Given the description of an element on the screen output the (x, y) to click on. 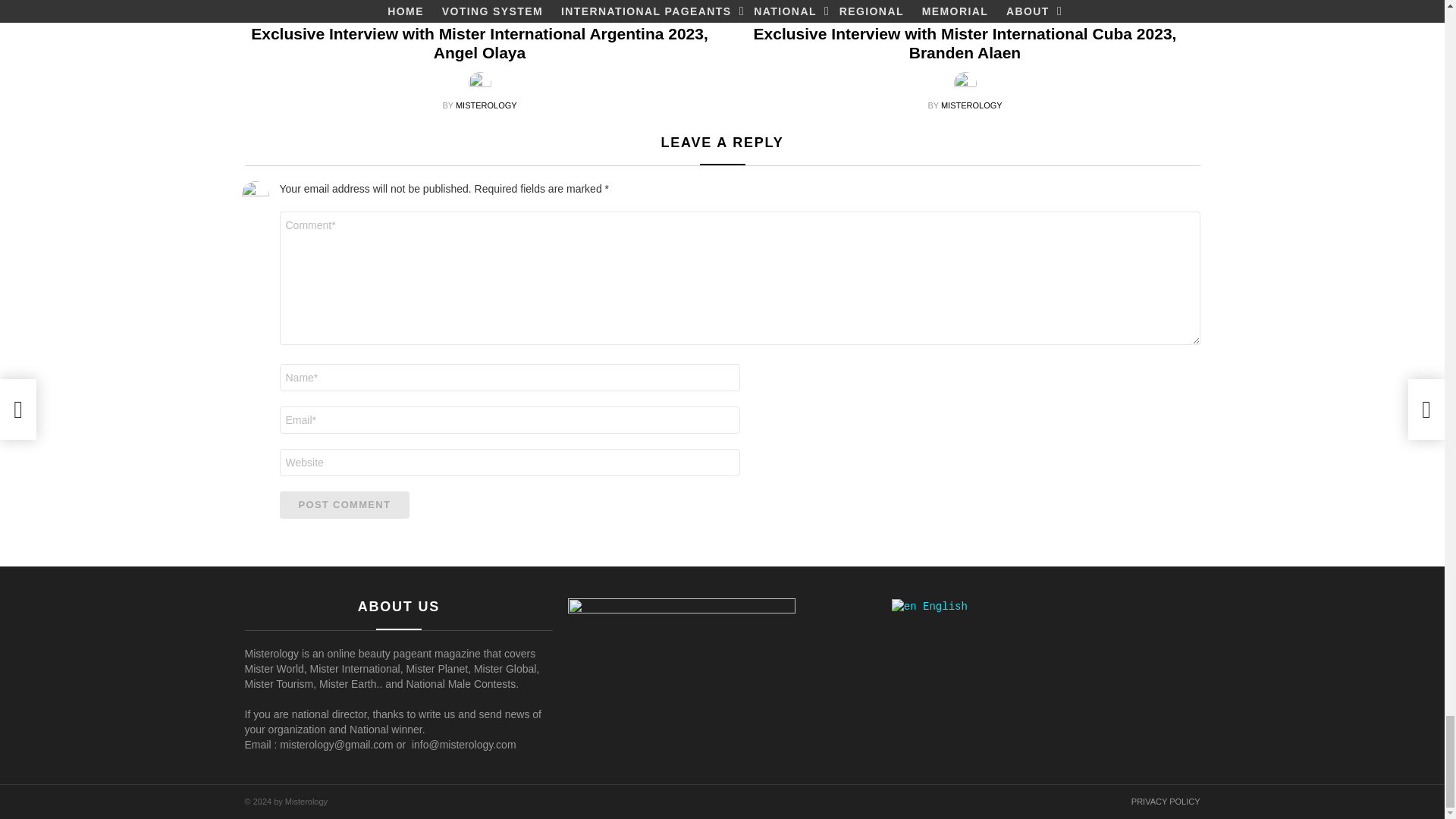
Posts by misterology (485, 104)
Post Comment (344, 504)
Posts by misterology (971, 104)
